Given the description of an element on the screen output the (x, y) to click on. 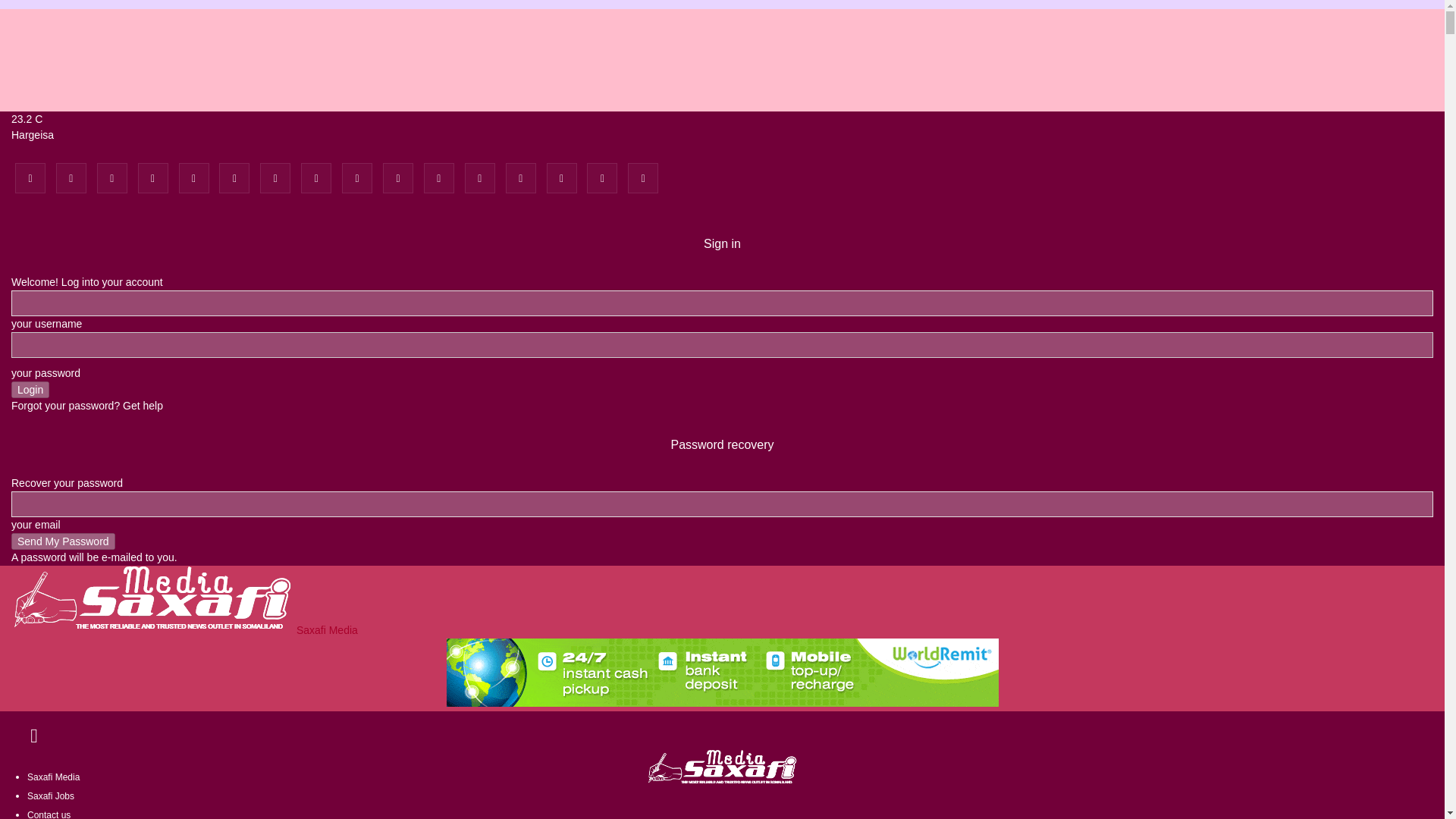
Saxafi Media (184, 630)
Send My Password (63, 541)
Forgot your password? Get help (87, 405)
Login (30, 389)
